Given the description of an element on the screen output the (x, y) to click on. 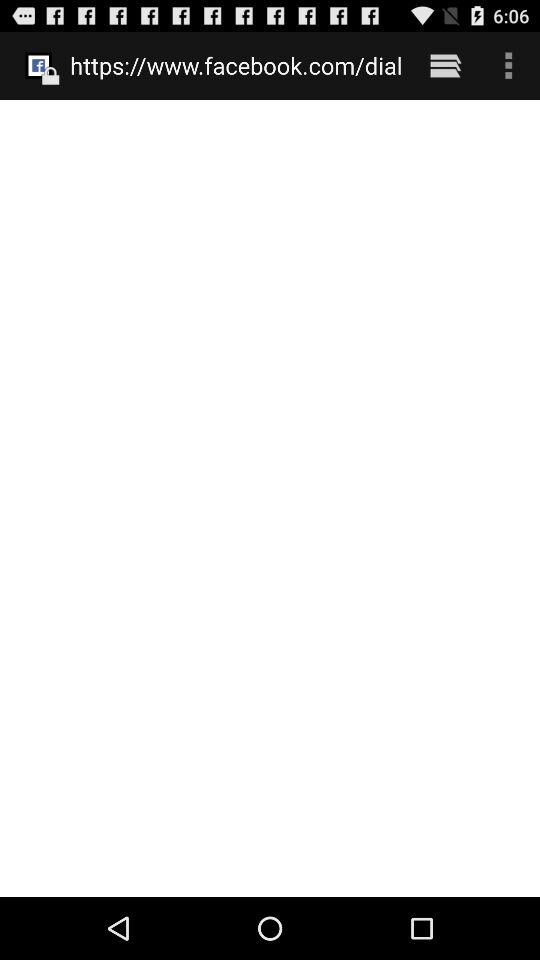
flip to the https www facebook icon (235, 65)
